Given the description of an element on the screen output the (x, y) to click on. 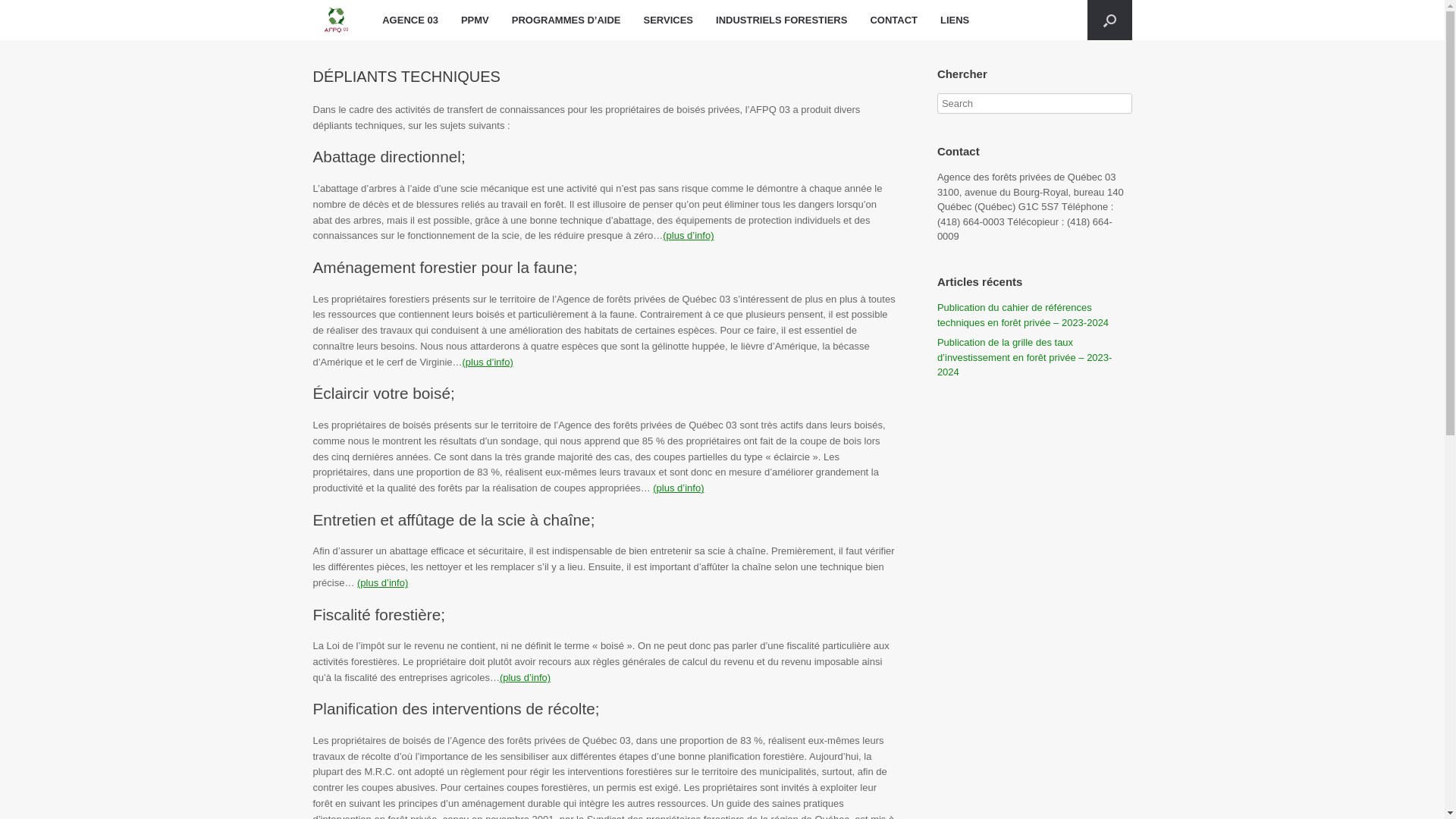
SERVICES Element type: text (668, 20)
CONTACT Element type: text (893, 20)
LIENS Element type: text (954, 20)
PPMV Element type: text (474, 20)
AGENCE 03 Element type: text (409, 20)
INDUSTRIELS FORESTIERS Element type: text (781, 20)
AFPQ 03 Element type: hover (335, 20)
